Given the description of an element on the screen output the (x, y) to click on. 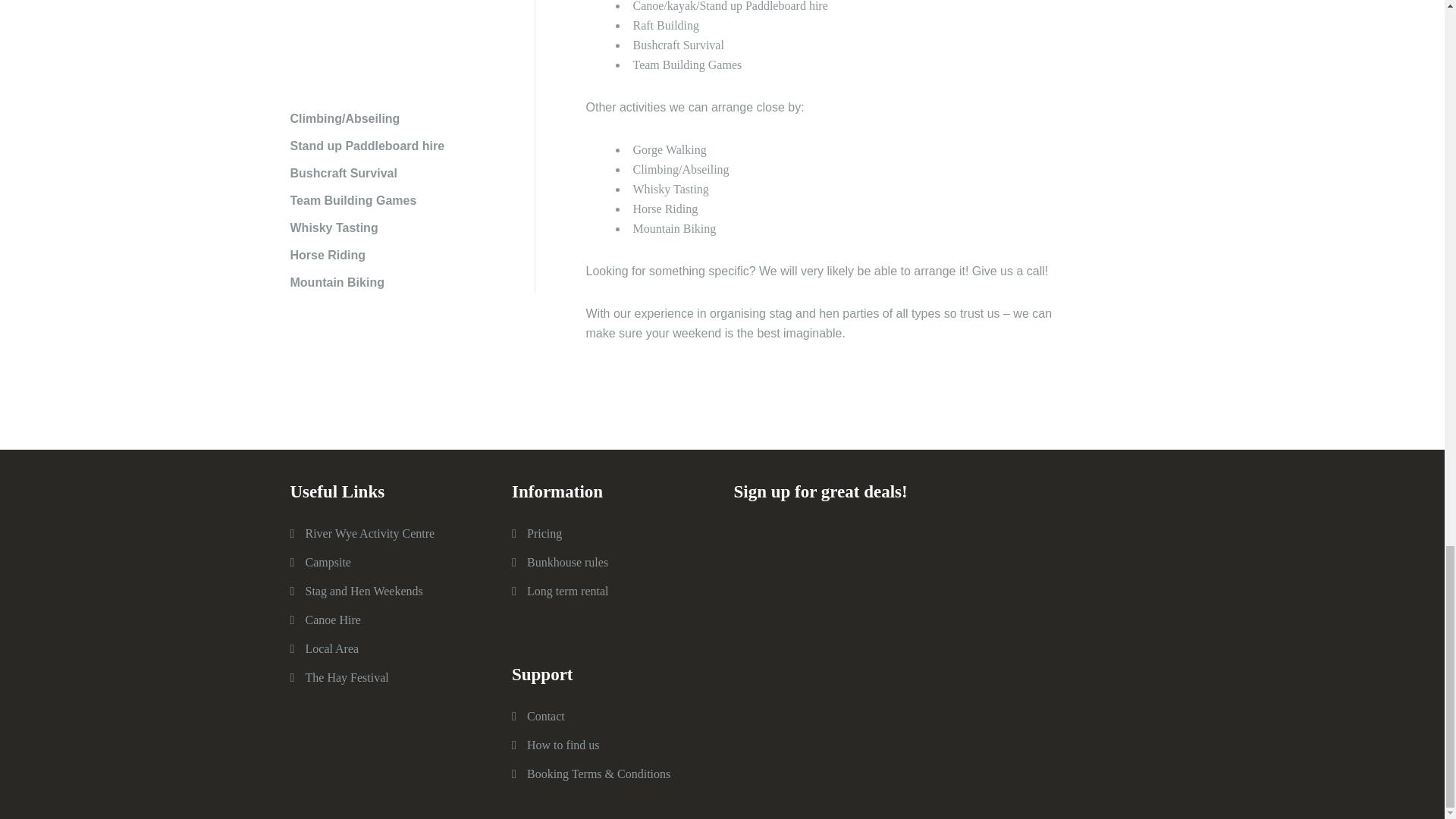
River Wye Activity Centre (368, 533)
Canoe Hire (331, 619)
The Hay Festival (346, 676)
Stag and Hen Weekends (363, 590)
How to find us (563, 744)
Contact (545, 716)
Pricing (544, 533)
Local Area (331, 648)
Campsite (327, 562)
